Given the description of an element on the screen output the (x, y) to click on. 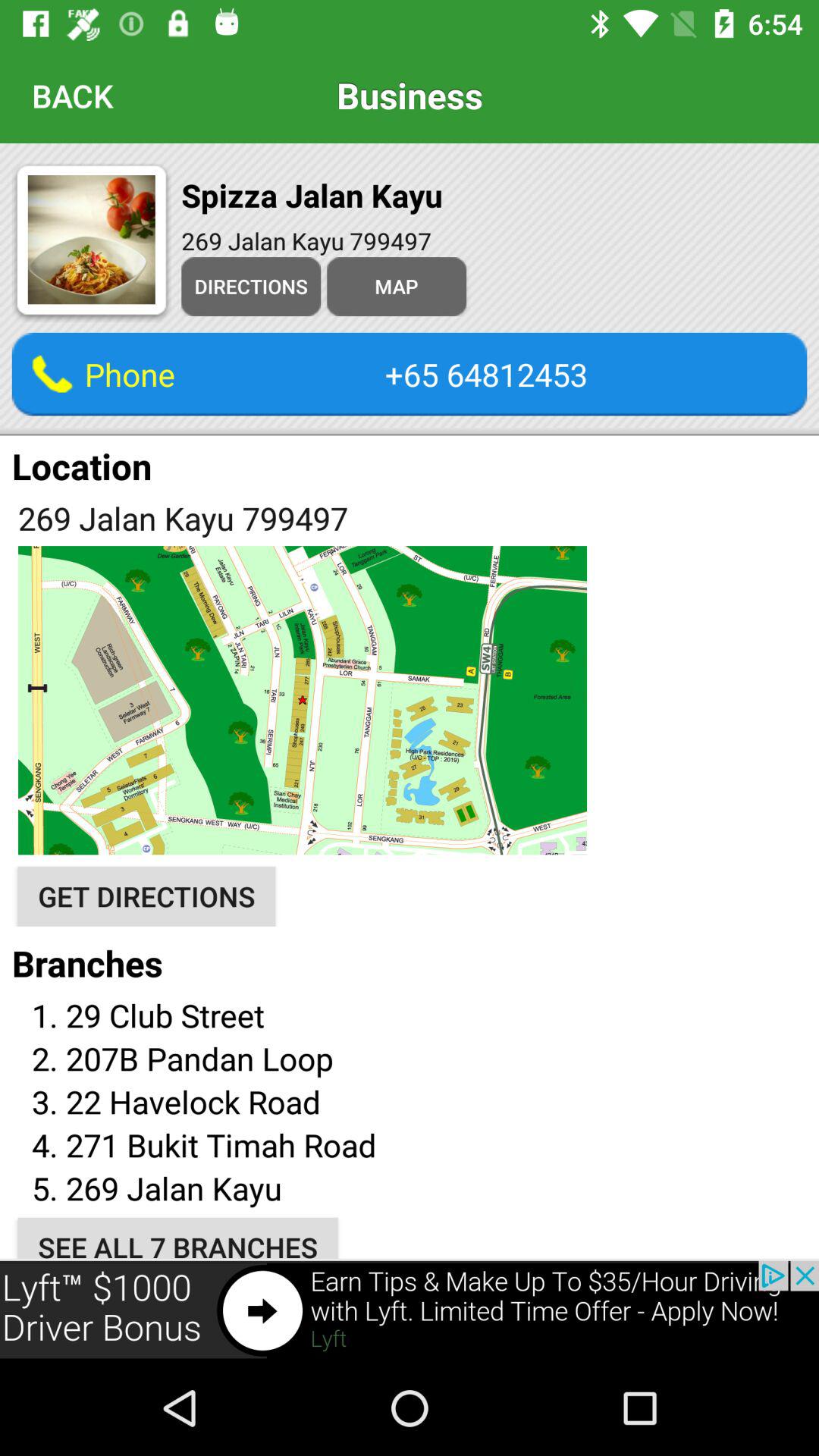
advertisement about lyft (409, 1310)
